Given the description of an element on the screen output the (x, y) to click on. 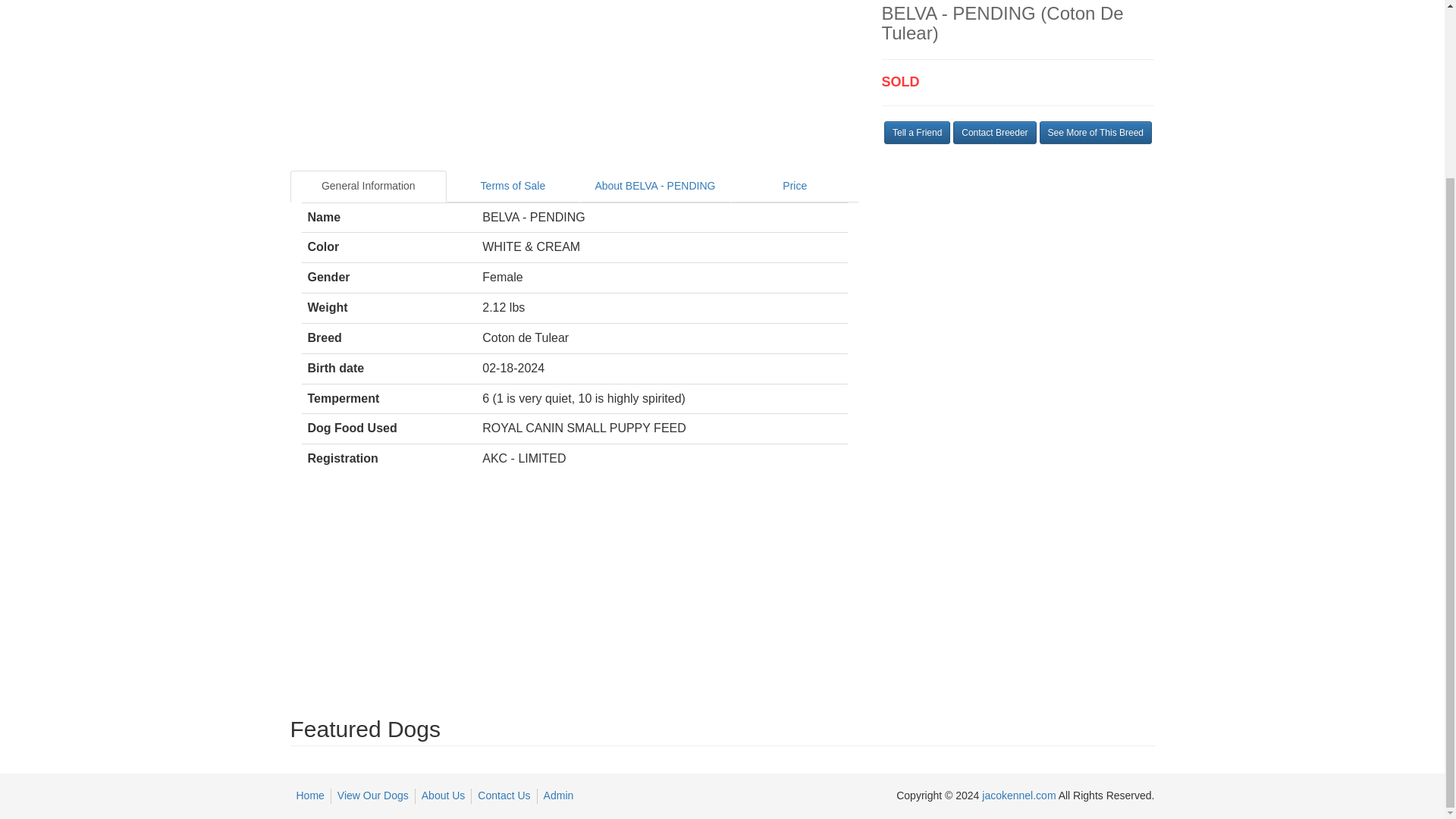
Contact Breeder (994, 132)
About BELVA - PENDING (654, 186)
Price (794, 186)
Contact Breeder (994, 132)
Tell a Friend (916, 132)
See More of This Breed (1095, 132)
Tell a friend (916, 132)
See More of This Breed (1095, 132)
General Information (367, 186)
Terms of Sale (512, 186)
